Given the description of an element on the screen output the (x, y) to click on. 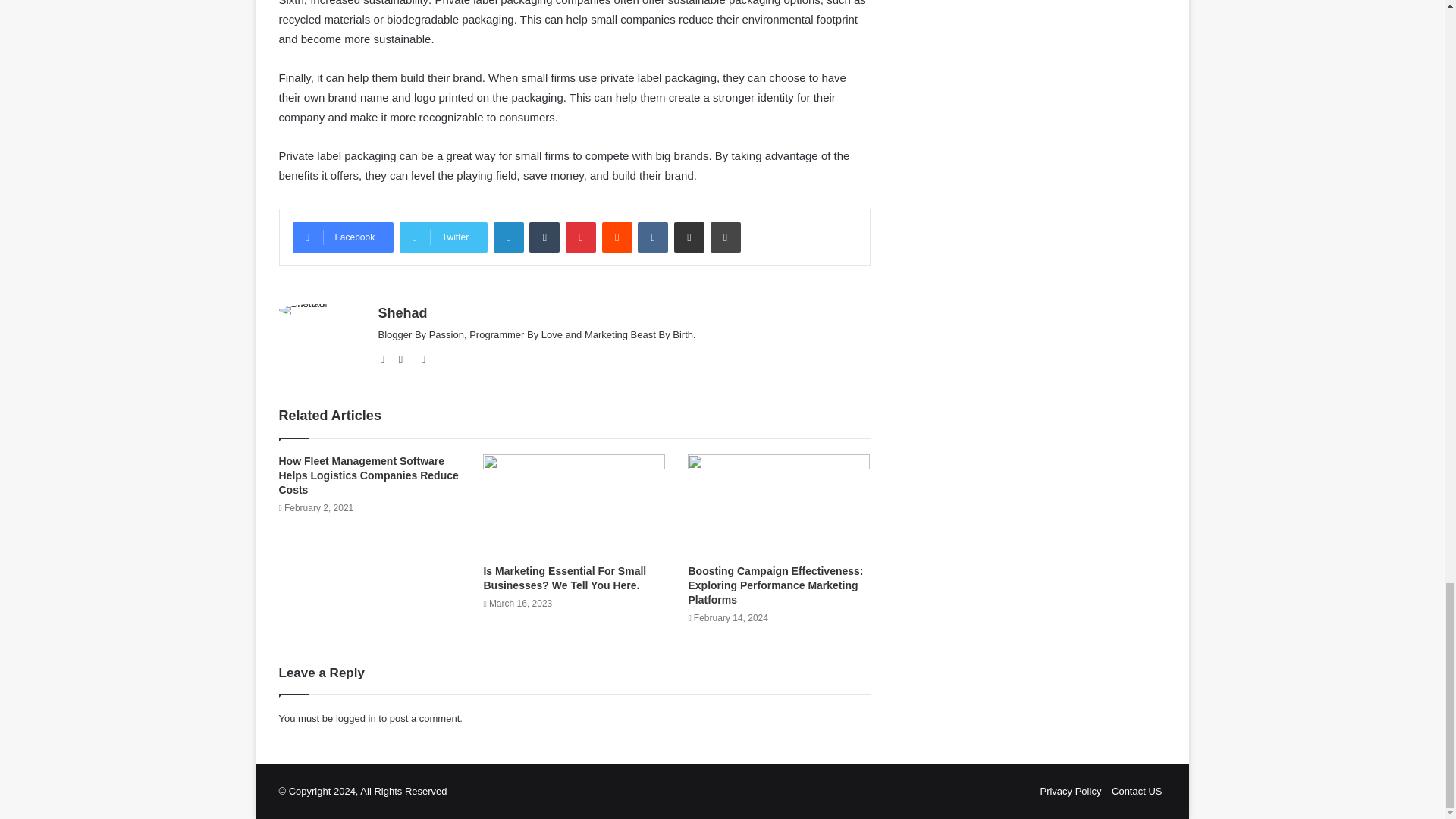
Tumblr (544, 236)
VKontakte (652, 236)
LinkedIn (508, 236)
Tumblr (544, 236)
Website (386, 359)
VKontakte (652, 236)
Print (725, 236)
Facebook (343, 236)
Share via Email (689, 236)
